Given the description of an element on the screen output the (x, y) to click on. 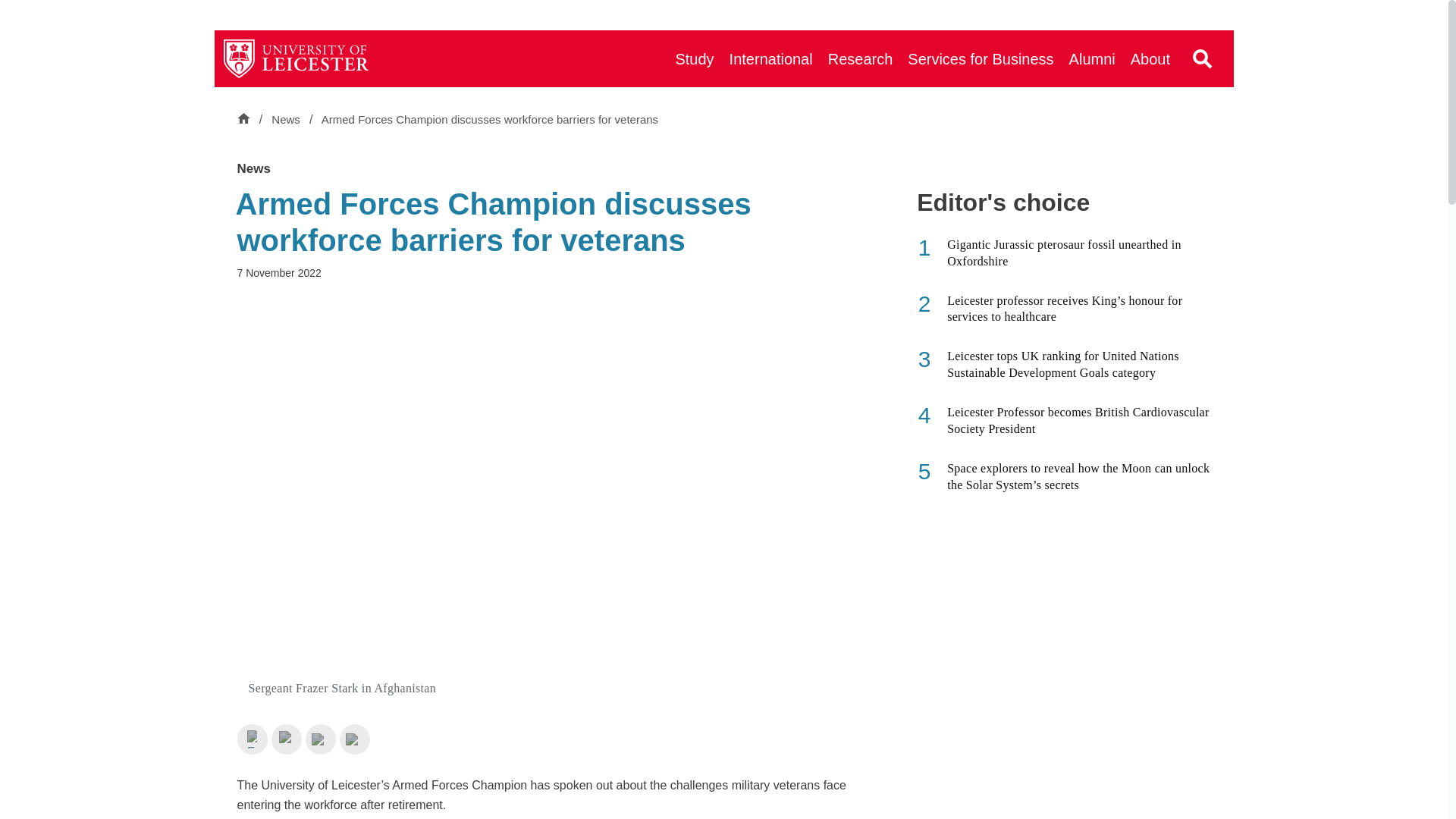
News (286, 119)
Study (693, 58)
Return to homepage (296, 58)
